Given the description of an element on the screen output the (x, y) to click on. 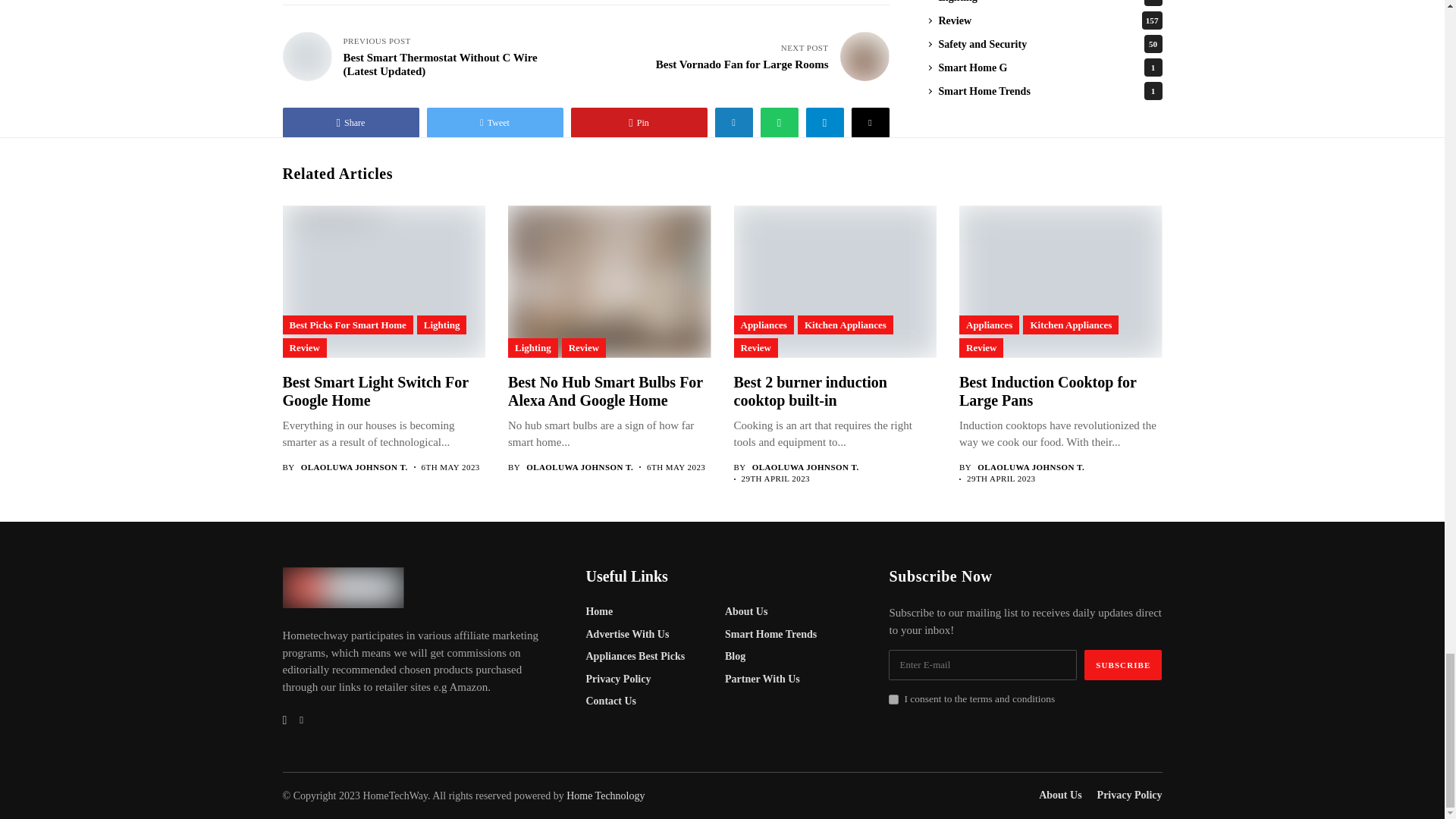
Posts by Olaoluwa Johnson T. (354, 467)
Posts by Olaoluwa Johnson T. (1030, 467)
Subscribe (1122, 665)
1 (893, 699)
Posts by Olaoluwa Johnson T. (579, 467)
Posts by Olaoluwa Johnson T. (805, 467)
